Given the description of an element on the screen output the (x, y) to click on. 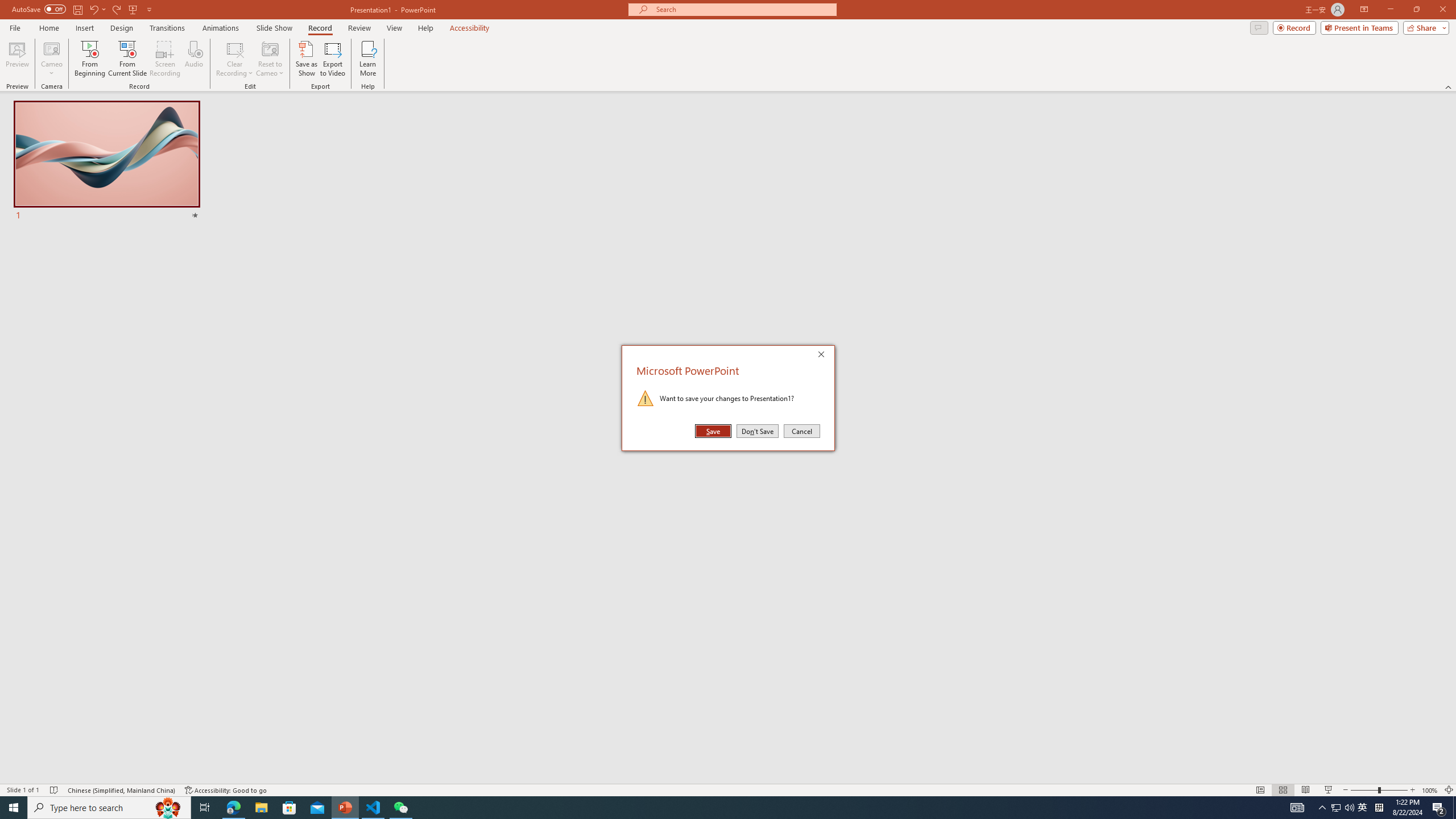
Microsoft Edge - 1 running window (233, 807)
Running applications (707, 807)
From Current Slide... (127, 58)
